Given the description of an element on the screen output the (x, y) to click on. 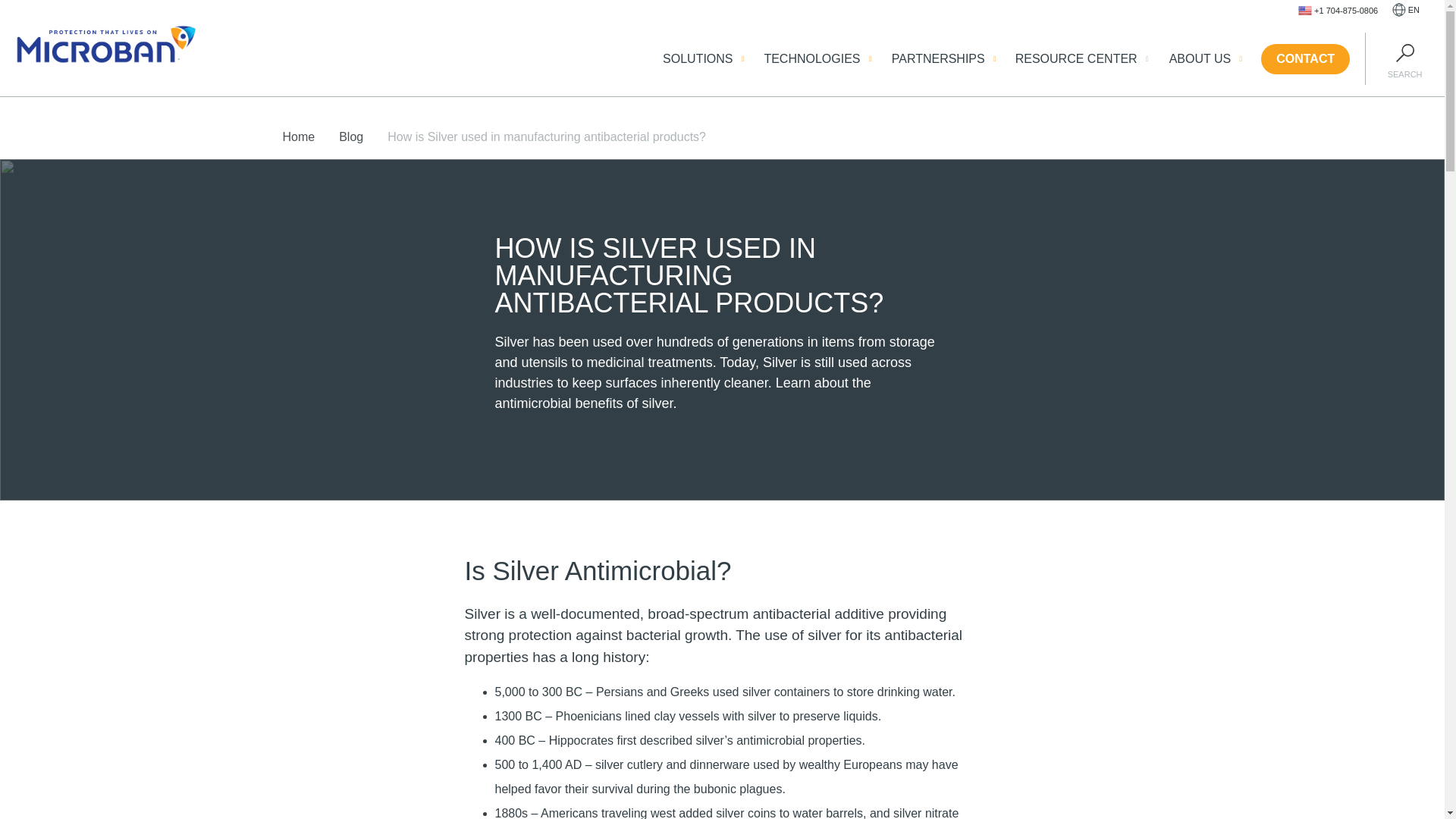
TECHNOLOGIES (811, 58)
SOLUTIONS (697, 58)
EN (1406, 10)
